Given the description of an element on the screen output the (x, y) to click on. 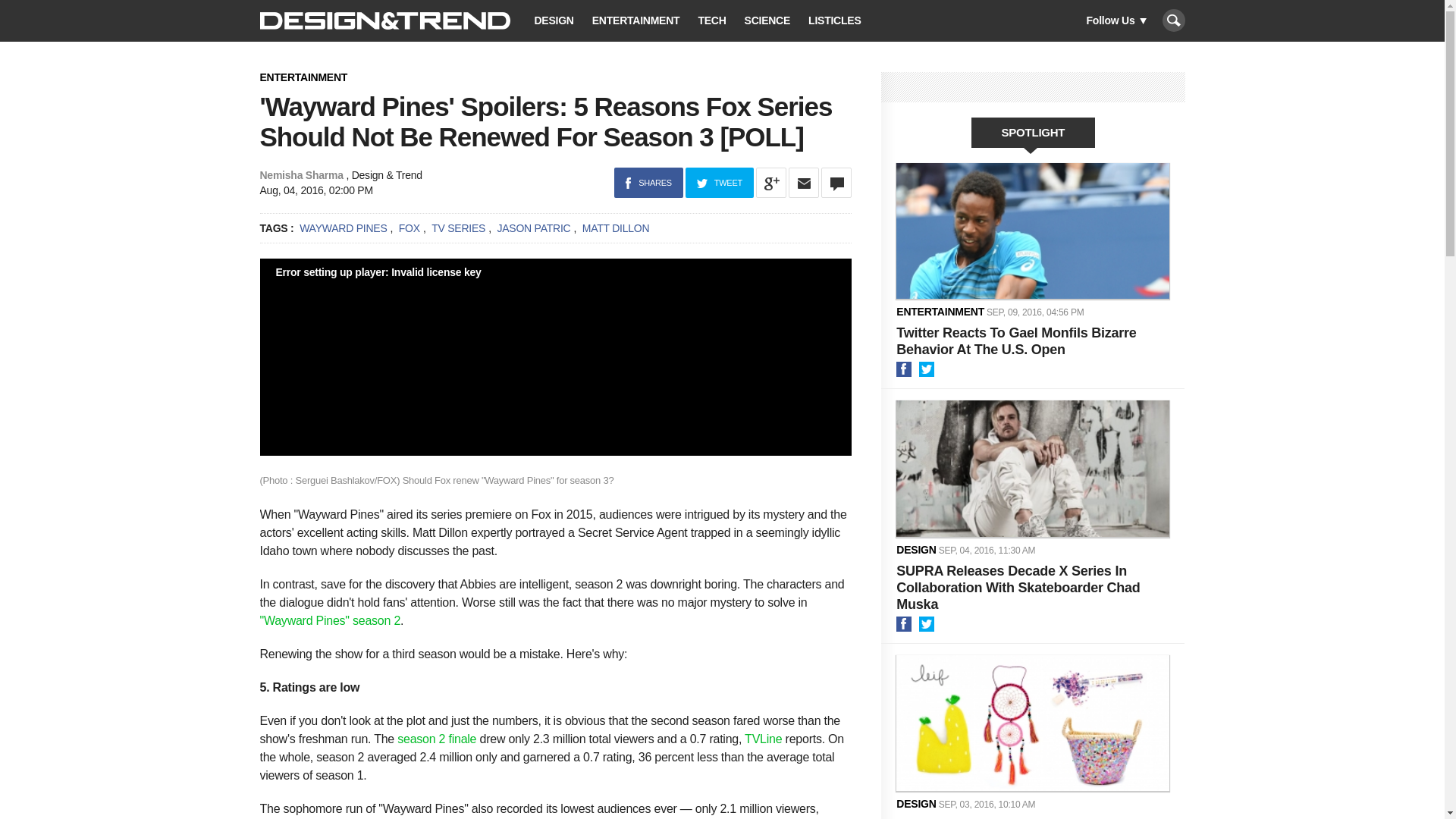
SHARES (648, 181)
ENTERTAINMENT (635, 20)
TWEET (719, 181)
DESIGN (553, 20)
TV SERIES (457, 227)
TECH (711, 20)
MATT DILLON (615, 227)
search (1173, 20)
LISTICLES (834, 20)
FOX (409, 227)
season 2 finale (436, 738)
Nemisha Sharma (300, 174)
WAYWARD PINES (343, 227)
JASON PATRIC (533, 227)
SCIENCE (767, 20)
